Given the description of an element on the screen output the (x, y) to click on. 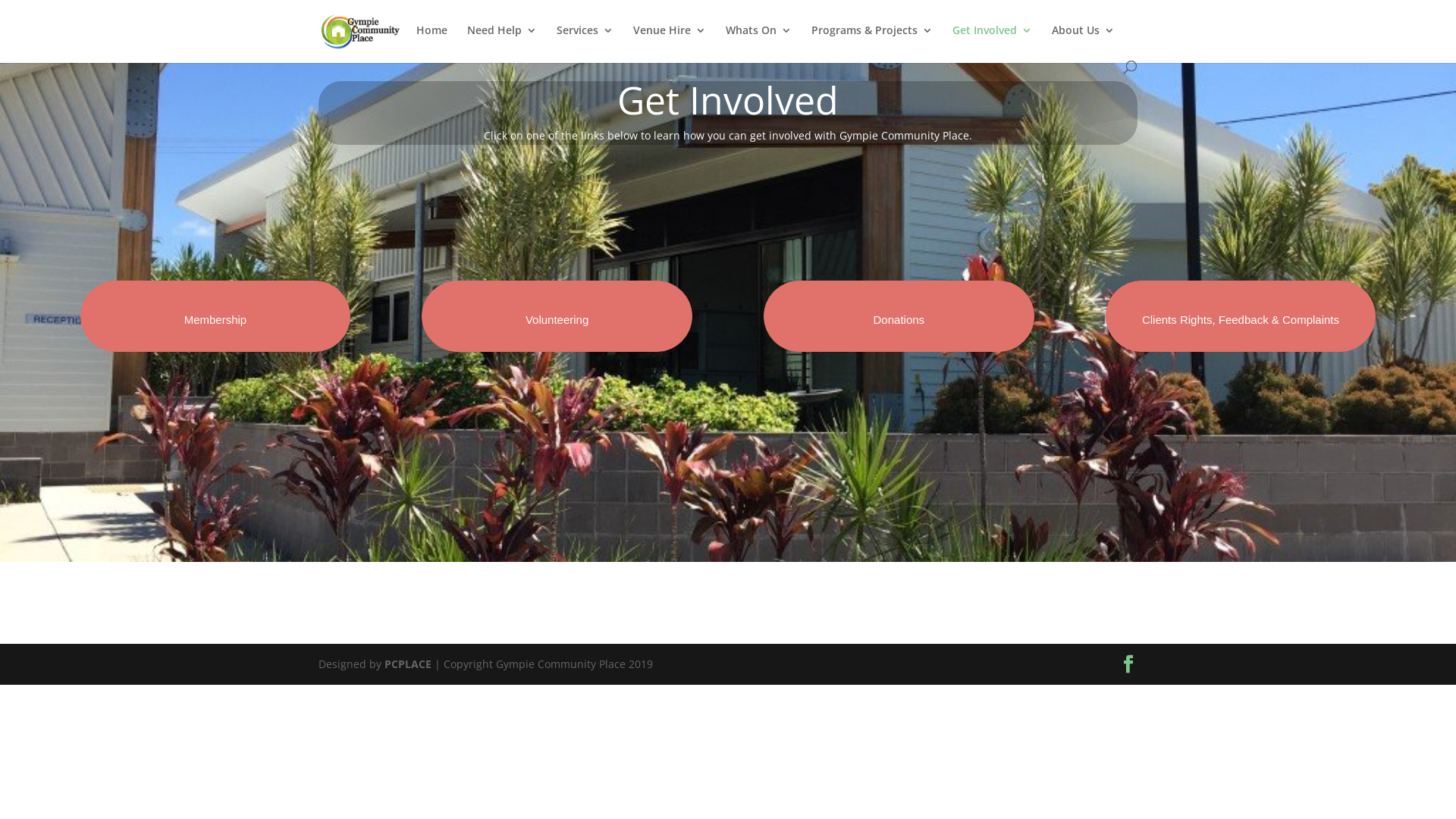
About Us Element type: text (1082, 42)
Get Involved Element type: text (992, 42)
Services Element type: text (584, 42)
Home Element type: text (431, 42)
Programs & Projects Element type: text (871, 42)
Need Help Element type: text (501, 42)
PCPLACE Element type: text (407, 663)
Venue Hire Element type: text (669, 42)
Whats On Element type: text (758, 42)
